Given the description of an element on the screen output the (x, y) to click on. 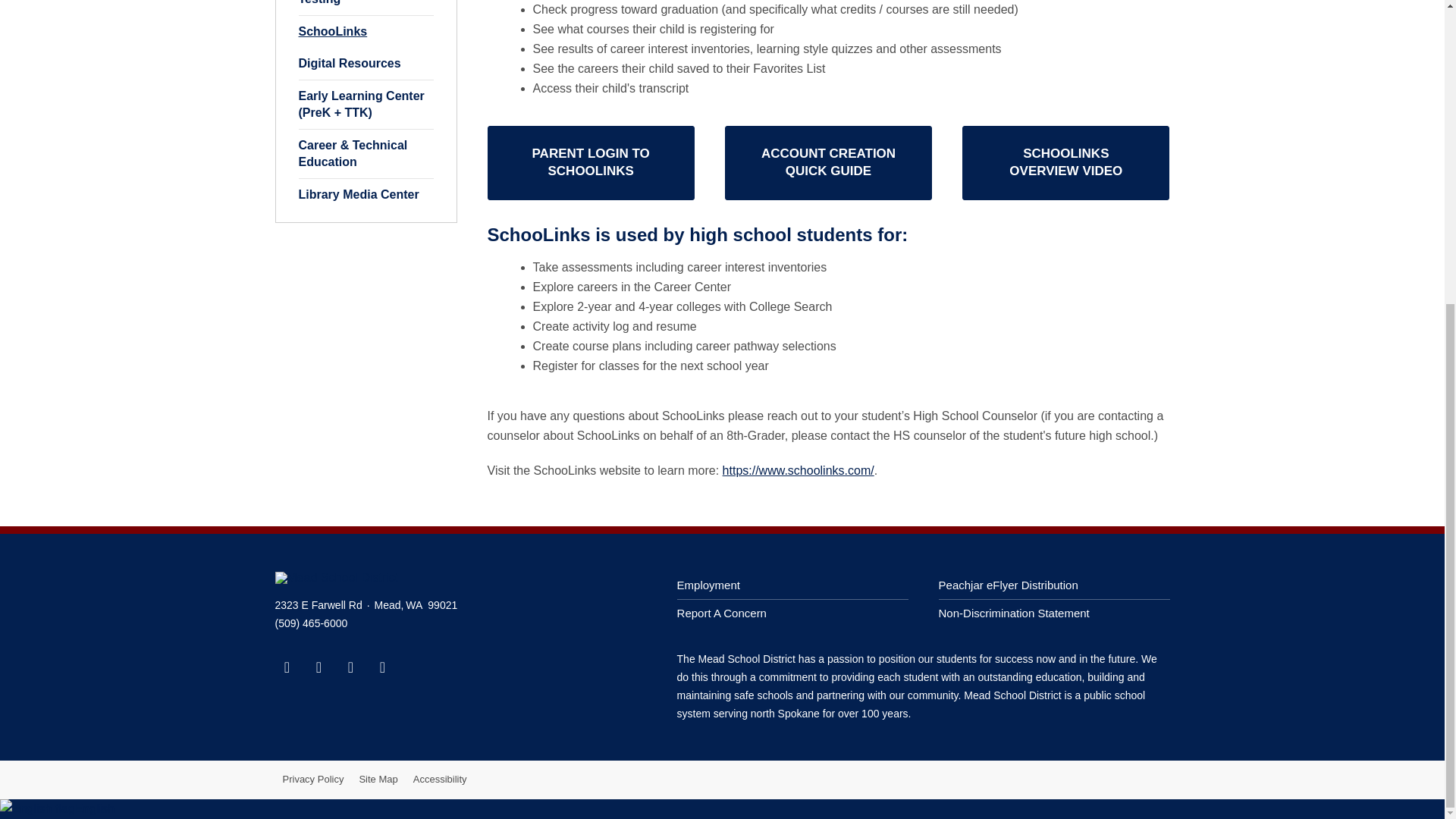
Powered by Finalsite opens in a new window (1118, 779)
